Given the description of an element on the screen output the (x, y) to click on. 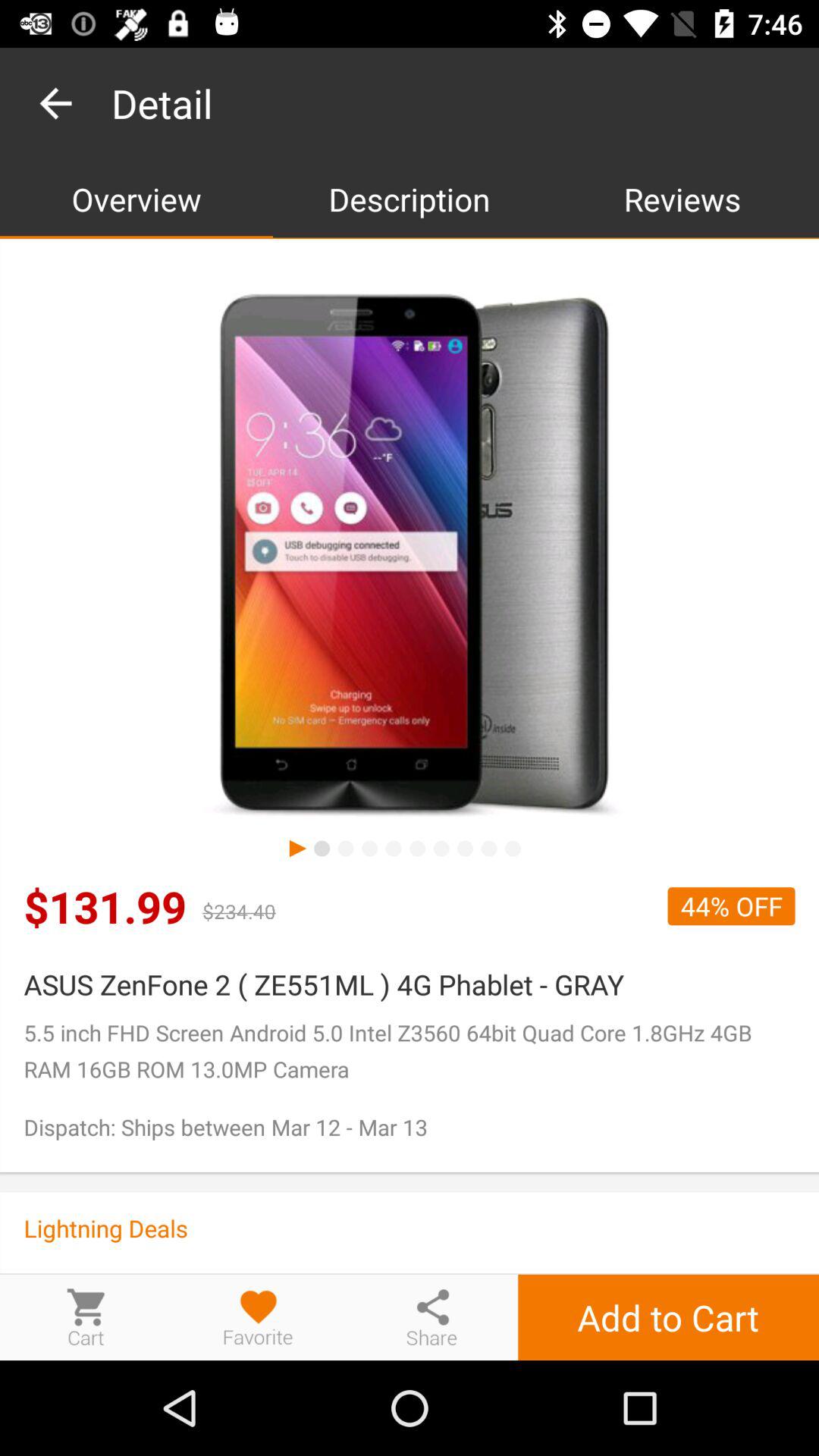
turn on the item to the left of the detail icon (55, 103)
